Given the description of an element on the screen output the (x, y) to click on. 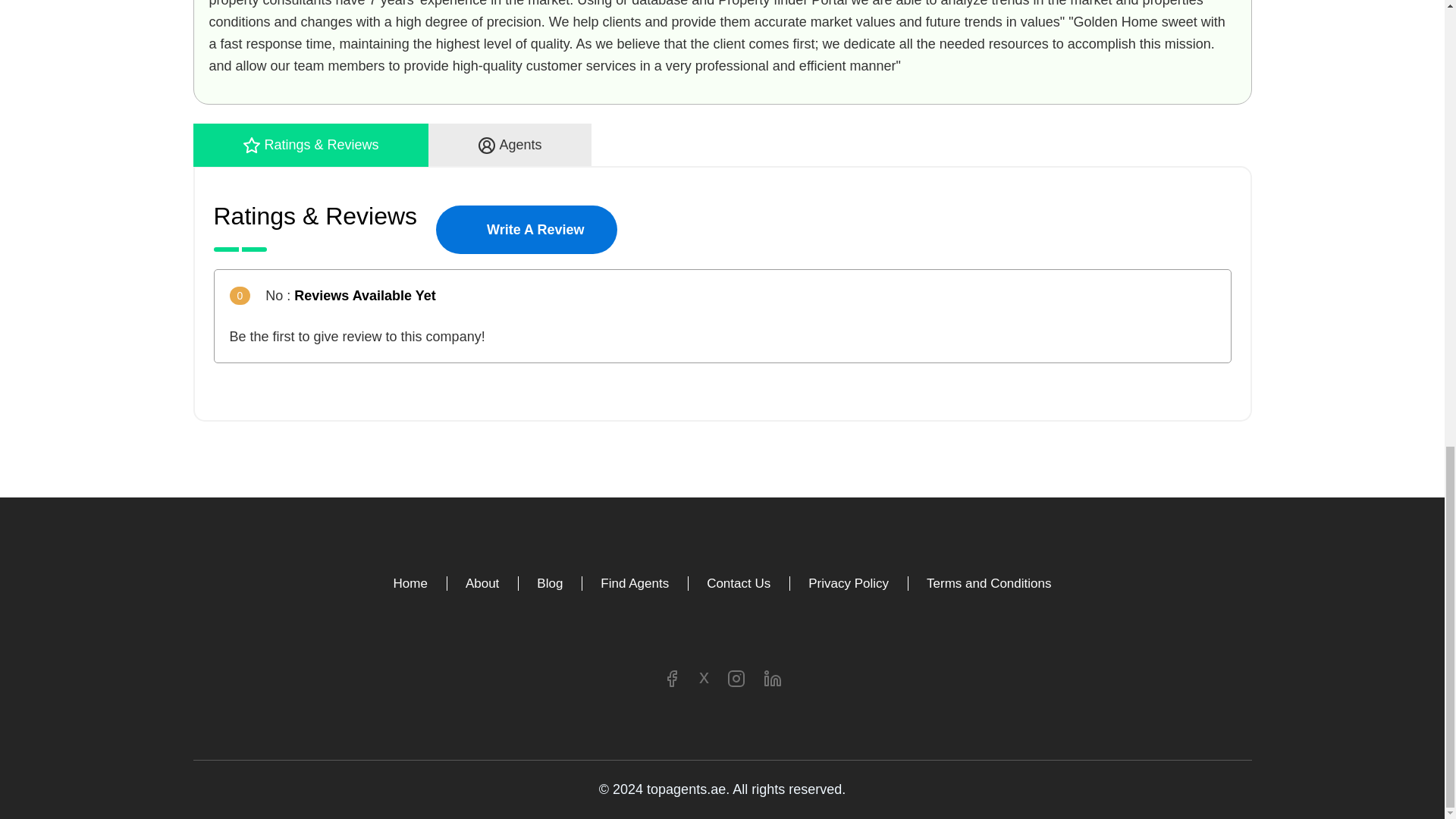
Agents (509, 145)
Write A Review (526, 229)
Blog (549, 583)
Home (410, 583)
Find Agents (633, 583)
Contact Us (738, 583)
About (482, 583)
Privacy Policy (848, 583)
Terms and Conditions (988, 583)
